Given the description of an element on the screen output the (x, y) to click on. 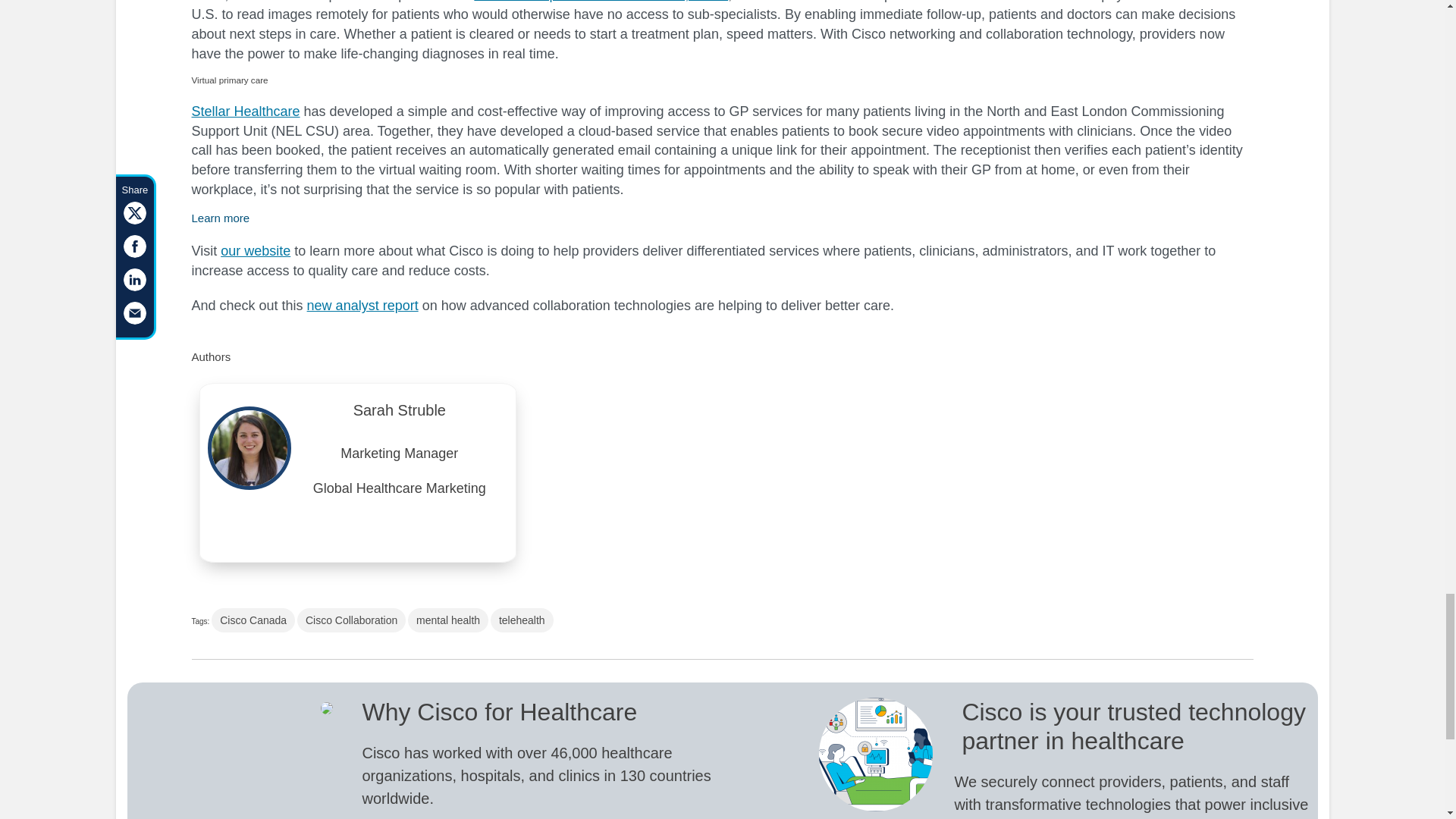
Cisco Canada (253, 620)
Sarah Struble (399, 413)
our website (255, 250)
Stellar Healthcare (244, 111)
Cisco Collaboration (351, 620)
telehealth (521, 620)
mental health (447, 620)
new analyst report (363, 305)
